Given the description of an element on the screen output the (x, y) to click on. 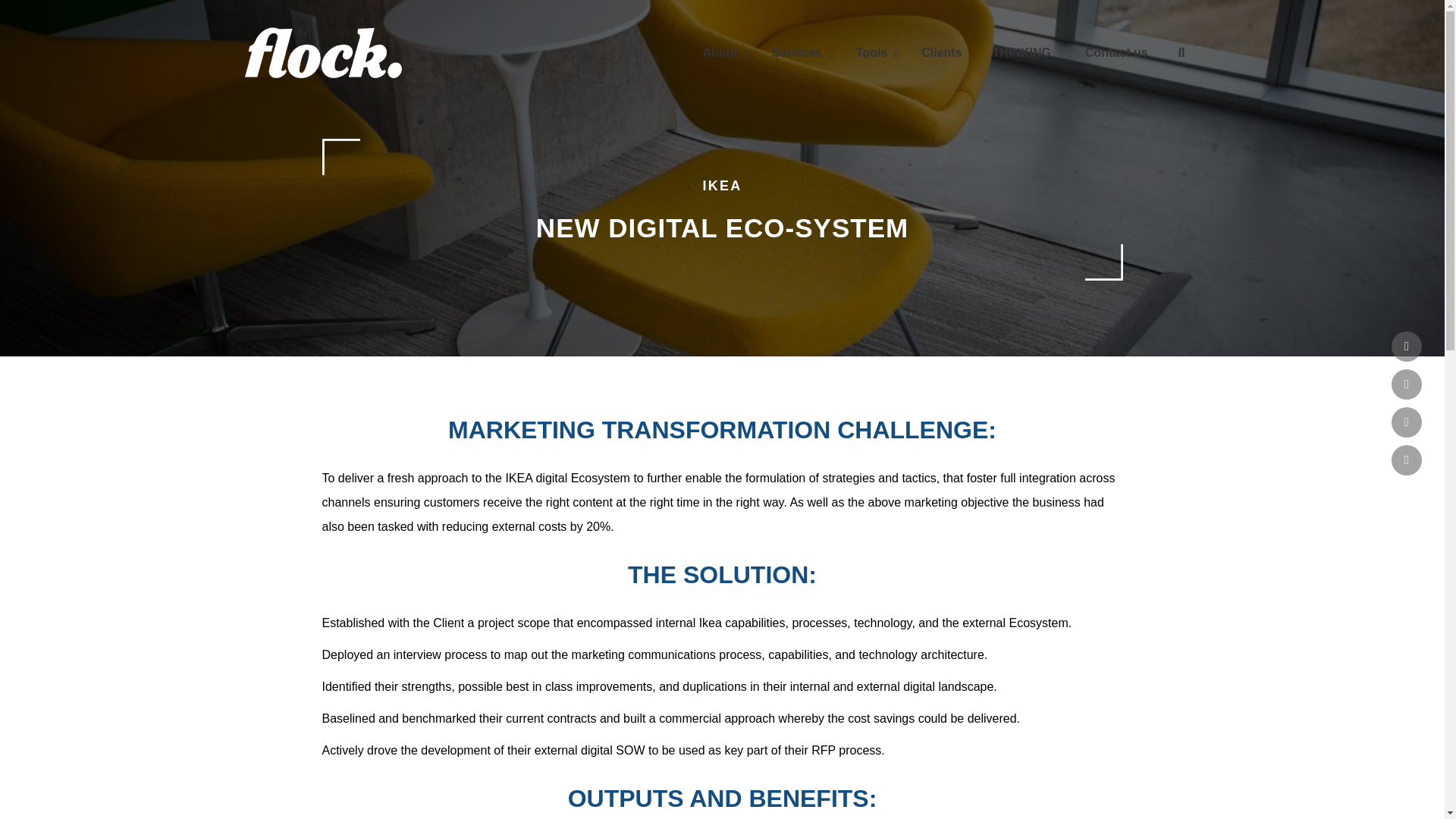
corner-right (1103, 262)
corner-left (340, 156)
